Given the description of an element on the screen output the (x, y) to click on. 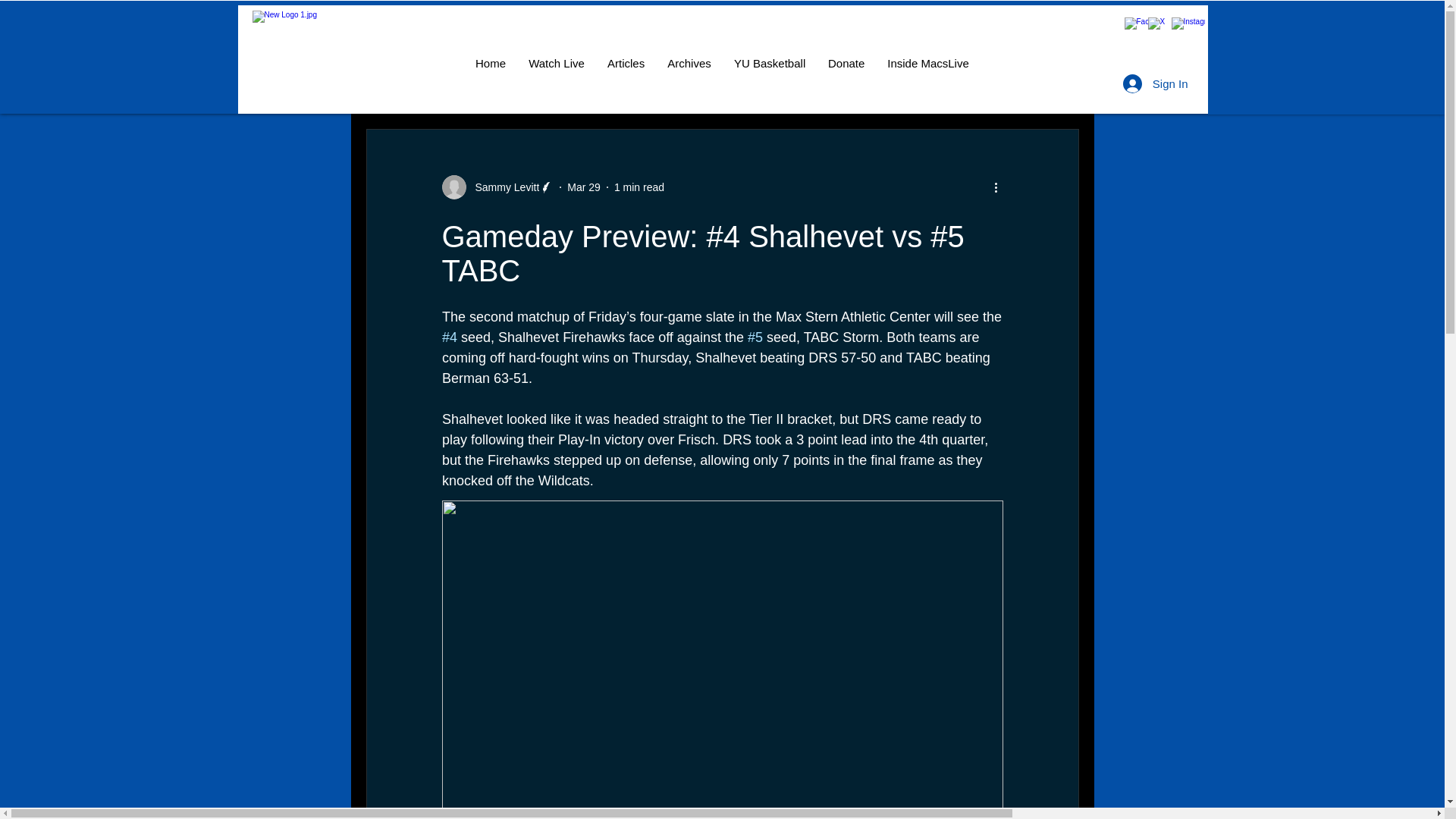
YU Basketball (769, 63)
Sign In (1155, 83)
Donate (846, 63)
Watch Live (555, 63)
Sammy Levitt (497, 187)
Mar 29 (583, 186)
Articles (625, 63)
Home (490, 63)
Sammy Levitt (501, 186)
1 min read (638, 186)
